Given the description of an element on the screen output the (x, y) to click on. 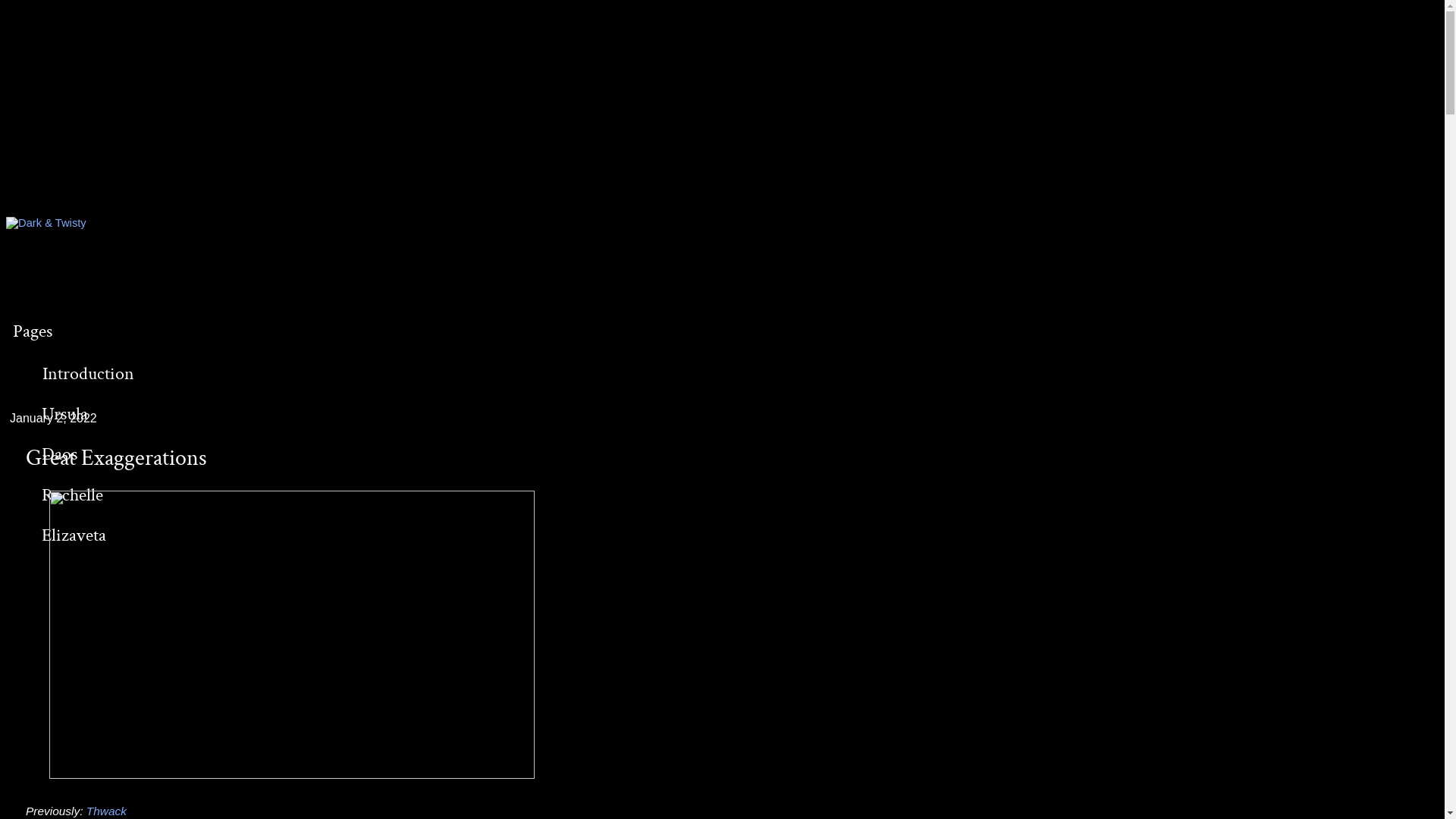
Rochelle Element type: text (72, 494)
Ursula Element type: text (64, 413)
Introduction Element type: text (88, 373)
Elizaveta Element type: text (74, 534)
Thwack Element type: text (106, 810)
Daos Element type: text (59, 453)
